Given the description of an element on the screen output the (x, y) to click on. 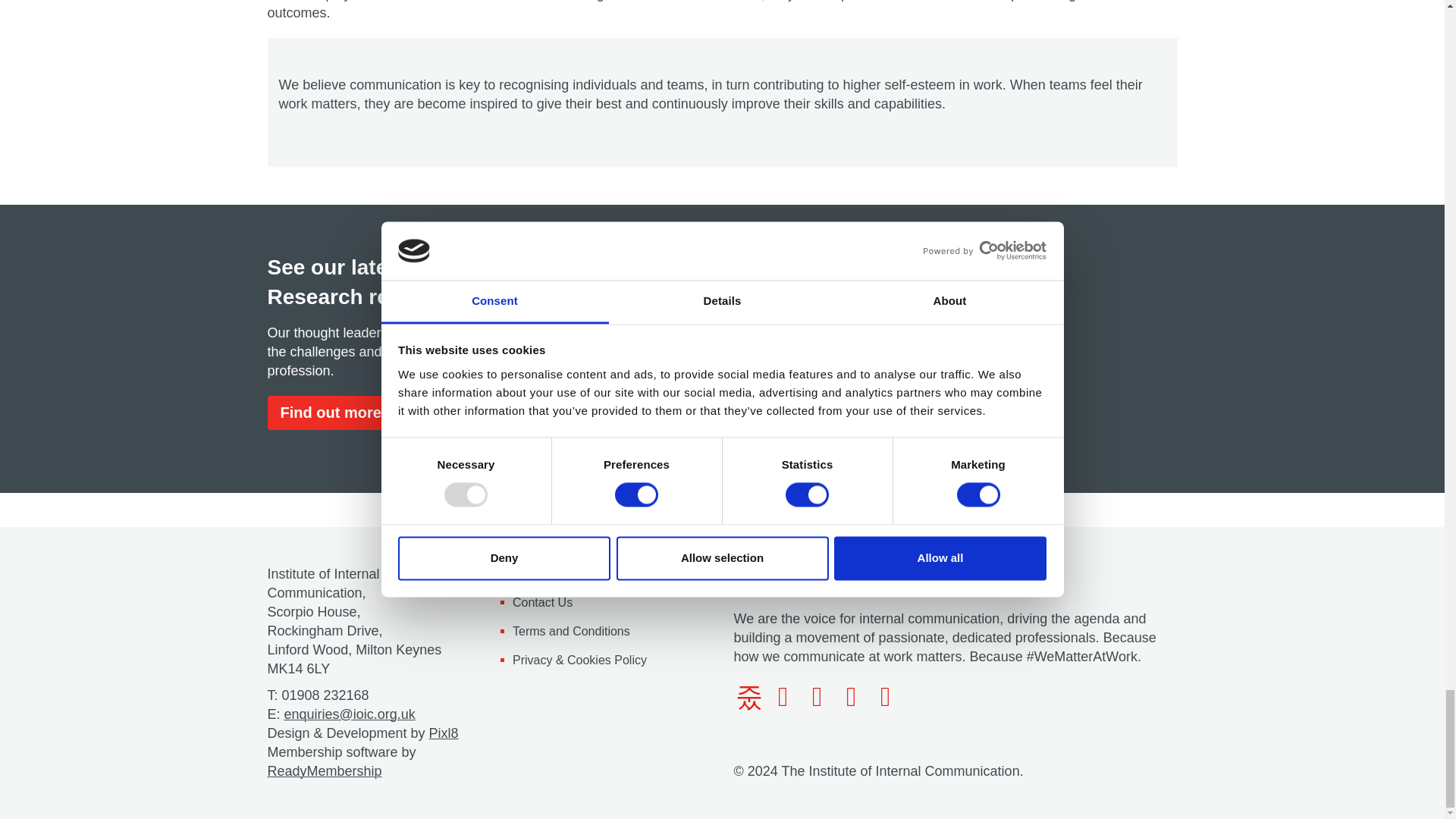
YouTube (885, 696)
